Given the description of an element on the screen output the (x, y) to click on. 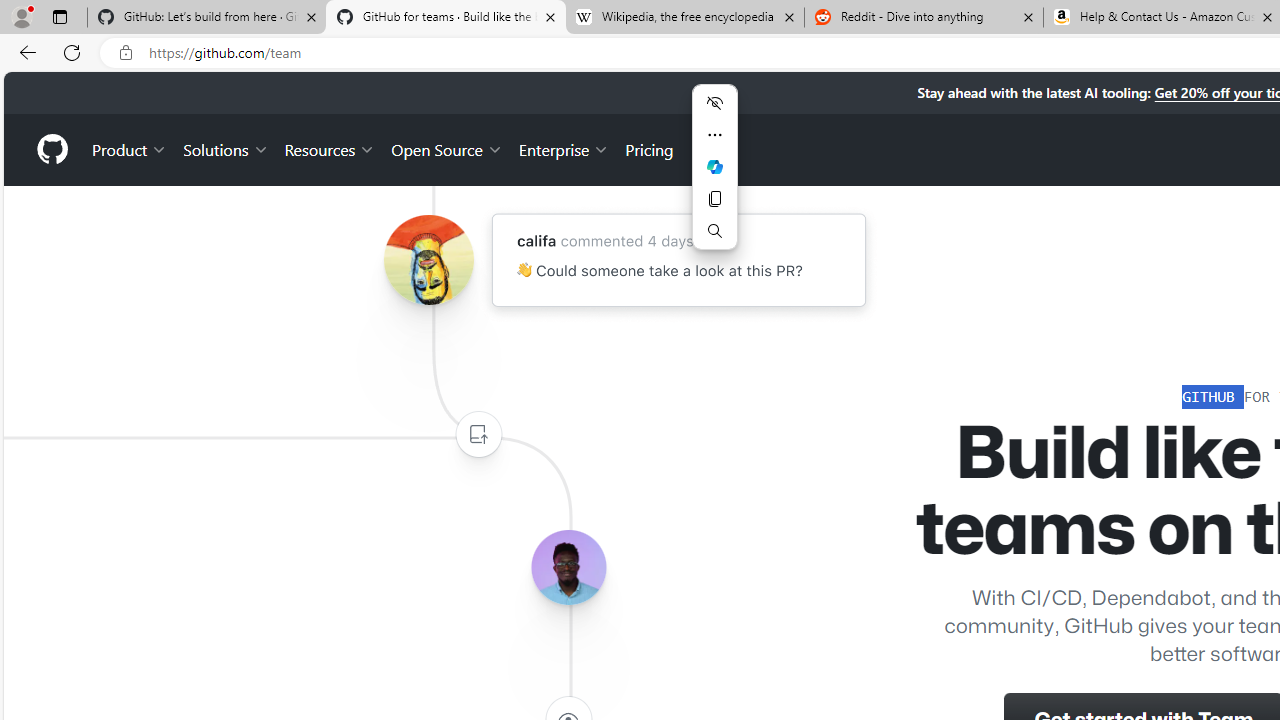
Enterprise (563, 148)
Wikipedia, the free encyclopedia (684, 17)
Enterprise (563, 148)
